Given the description of an element on the screen output the (x, y) to click on. 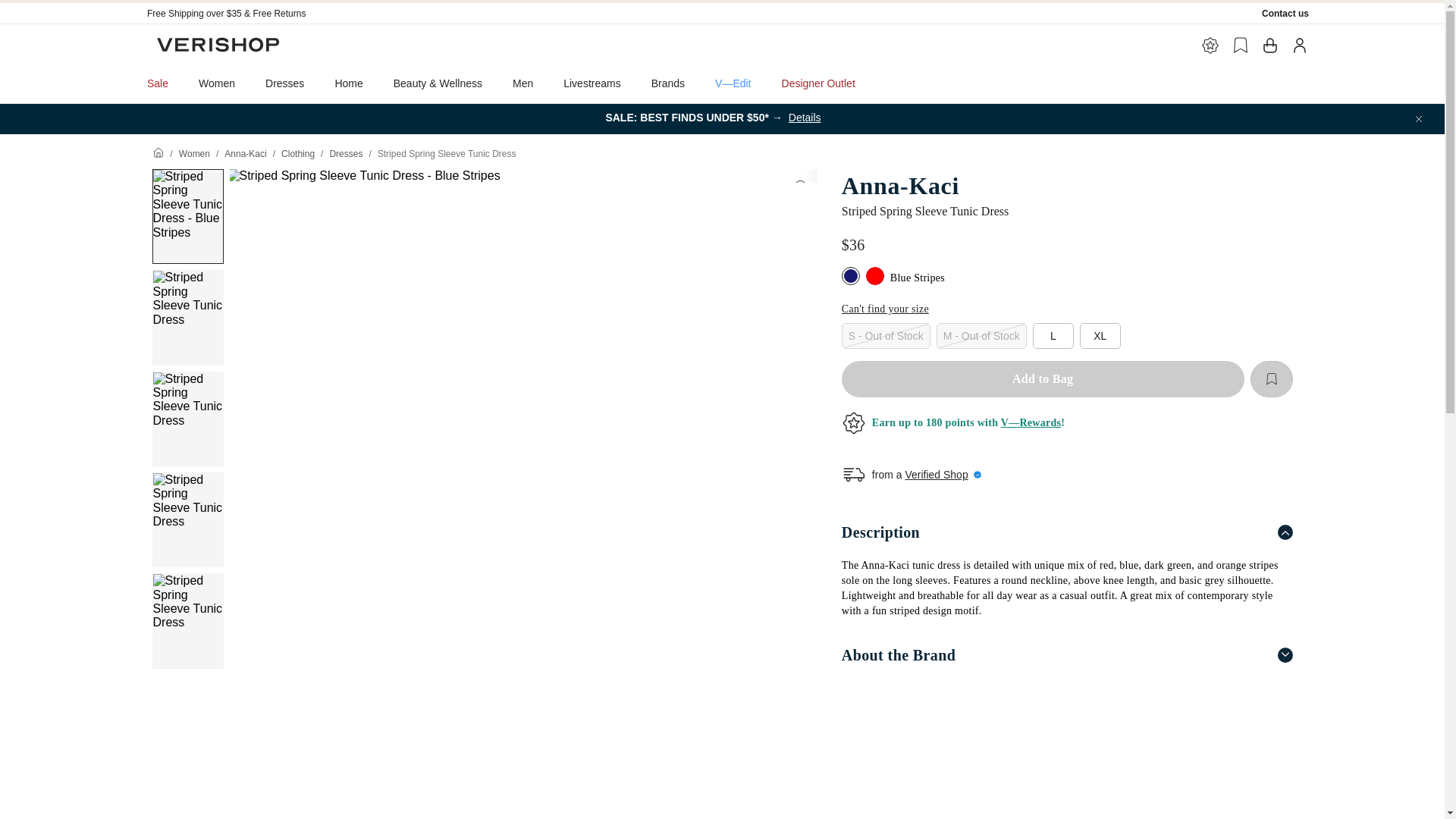
Dresses (345, 153)
Brands (668, 82)
Designer Outlet (818, 82)
Women (194, 153)
XL (1100, 335)
Clothing (297, 153)
Red Stripes (876, 277)
L (1053, 335)
Contact us (1285, 13)
Anna-Kaci (1066, 185)
